Given the description of an element on the screen output the (x, y) to click on. 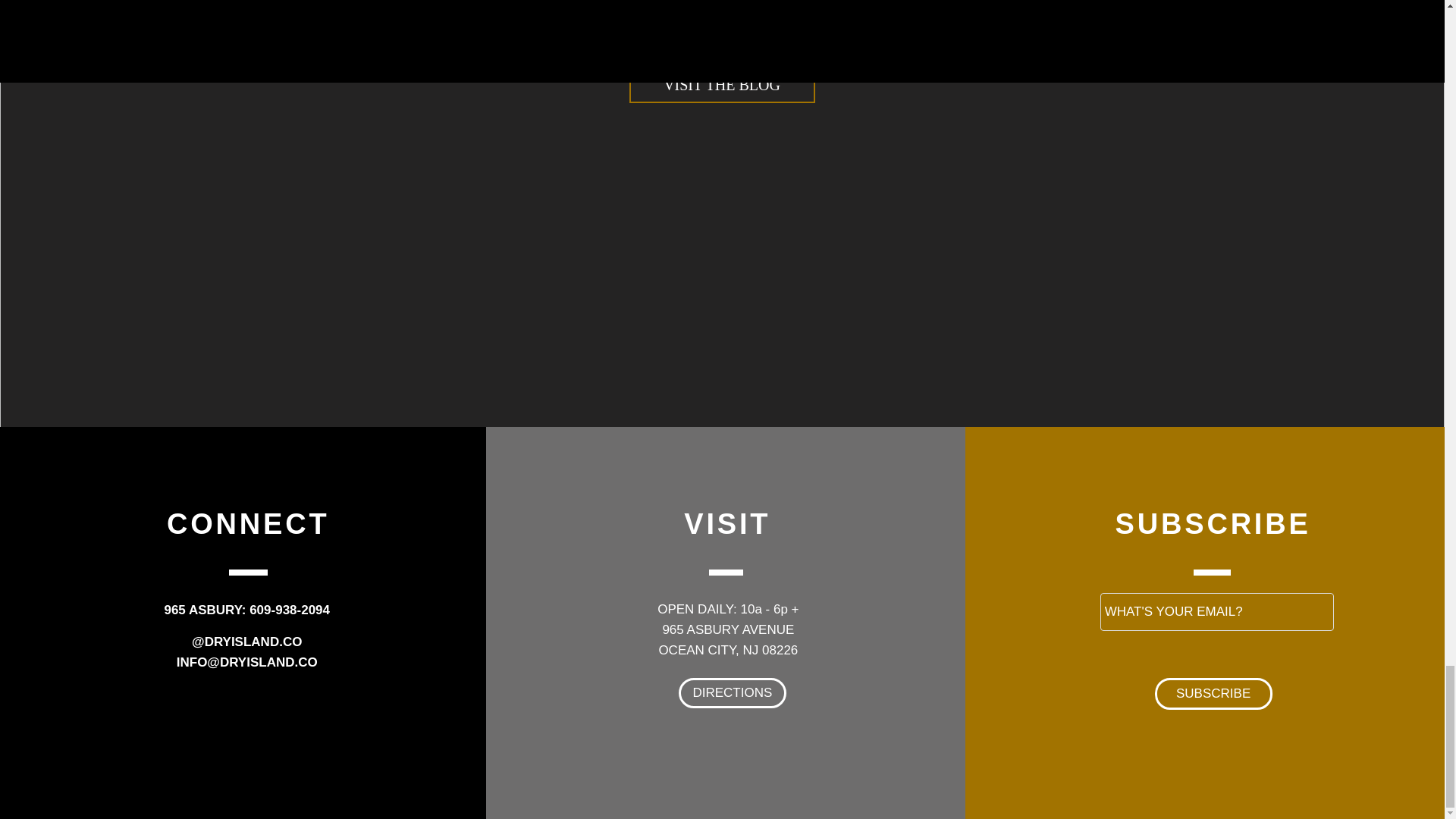
BAR NONE (721, 10)
VISIT THE BLOG (721, 84)
965 ASBURY: 609-938-2094 (246, 609)
DIRECTIONS (732, 693)
SUBSCRIBE (1213, 694)
